Given the description of an element on the screen output the (x, y) to click on. 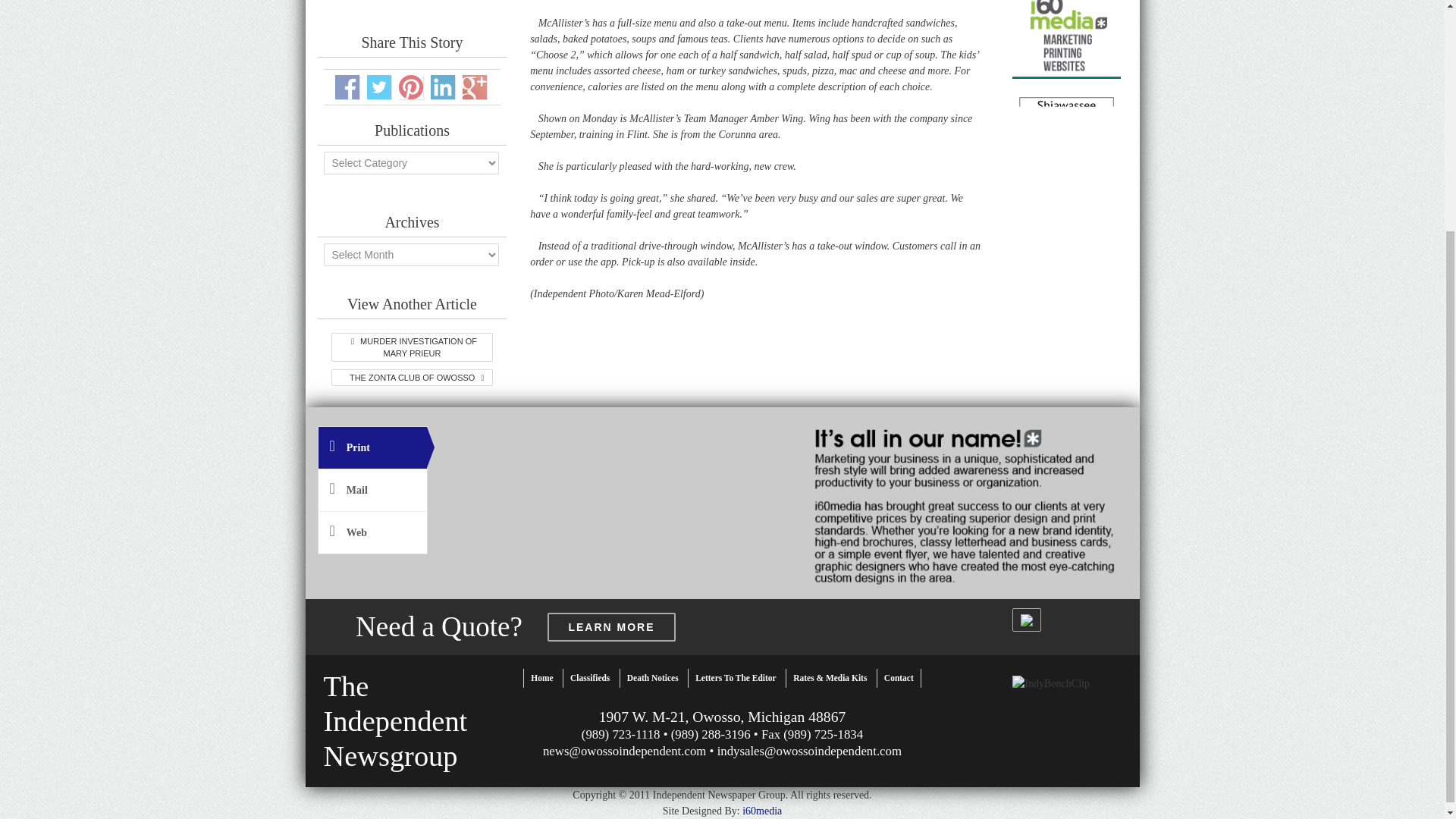
Linkedin (442, 87)
LEARN MORE (611, 626)
Facebook (395, 721)
Share on Facebook (346, 87)
Share on Pinterest (346, 87)
Home (410, 87)
Twitter (541, 678)
THE ZONTA CLUB OF OWOSSO (378, 87)
Pinterest (411, 377)
